Given the description of an element on the screen output the (x, y) to click on. 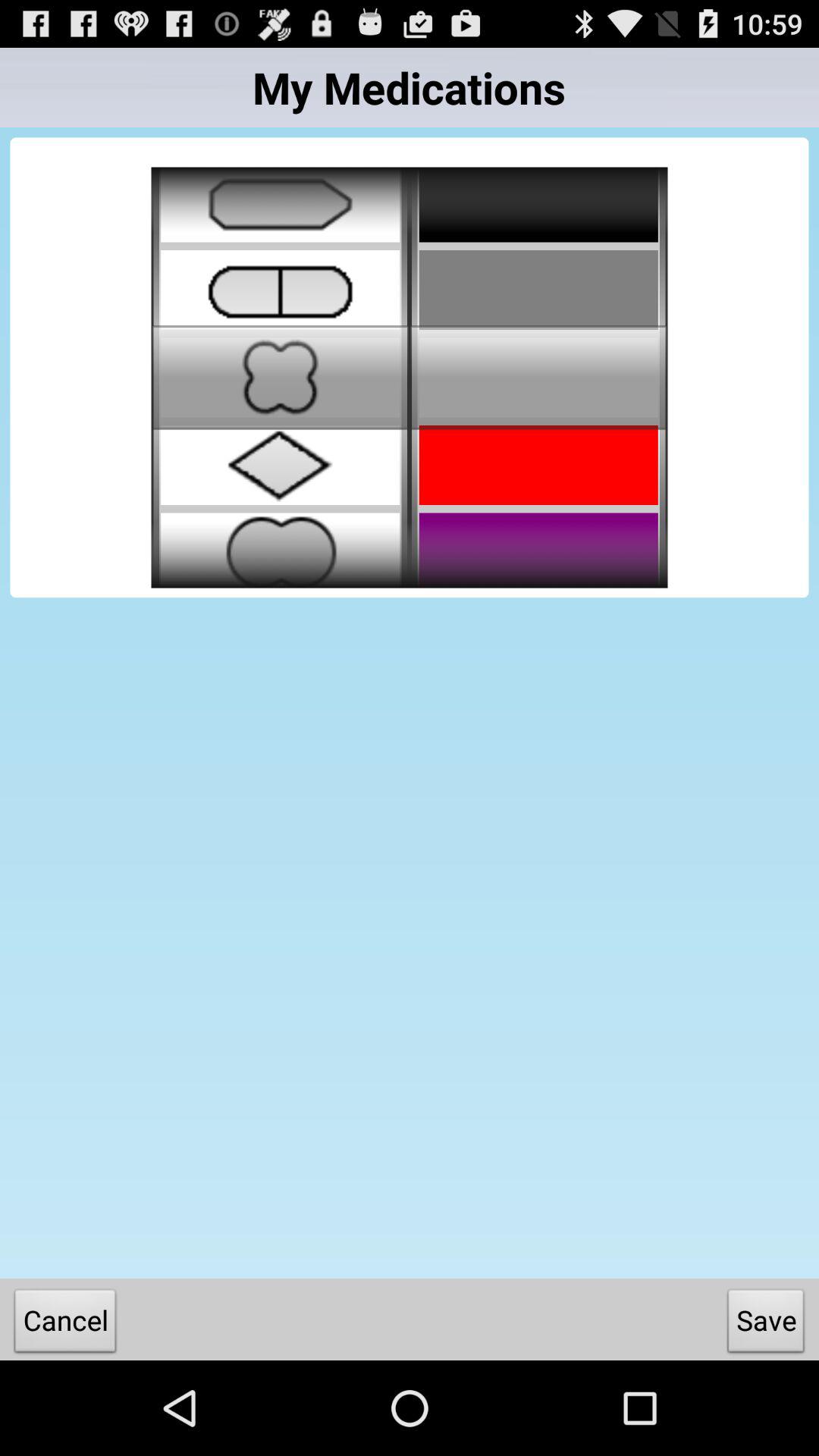
choose the button at the bottom left corner (65, 1324)
